Given the description of an element on the screen output the (x, y) to click on. 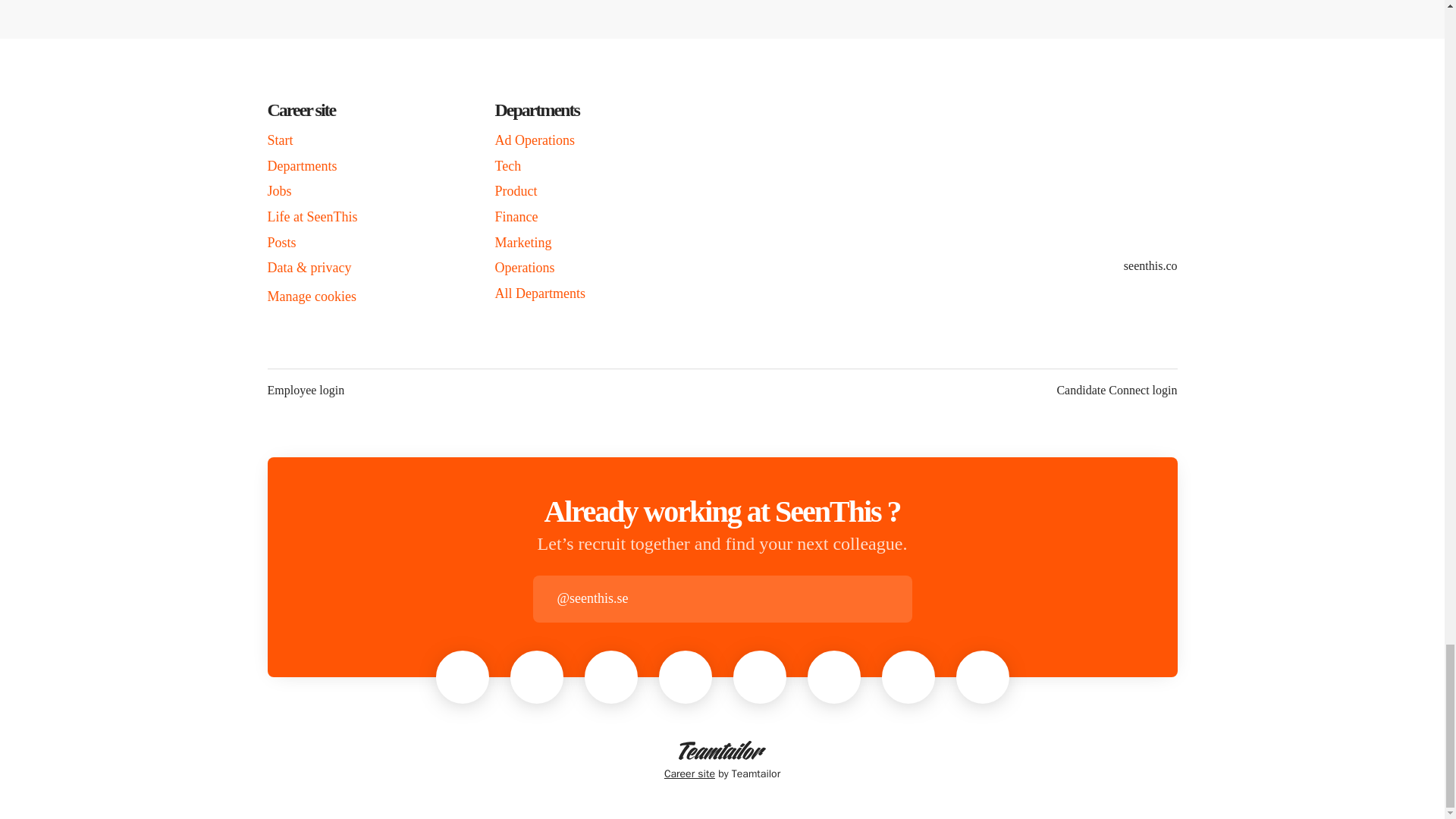
Simon Blackman (982, 676)
Life at SeenThis (311, 216)
Posts (280, 242)
Magnus Ystad (685, 676)
Joakim Oom (759, 676)
Ben Riley (610, 676)
Jakob (908, 676)
Departments (301, 165)
Log in (899, 598)
linkedin (1173, 296)
Gabrielle Persson (462, 676)
Start (279, 139)
Jobs (278, 190)
